Given the description of an element on the screen output the (x, y) to click on. 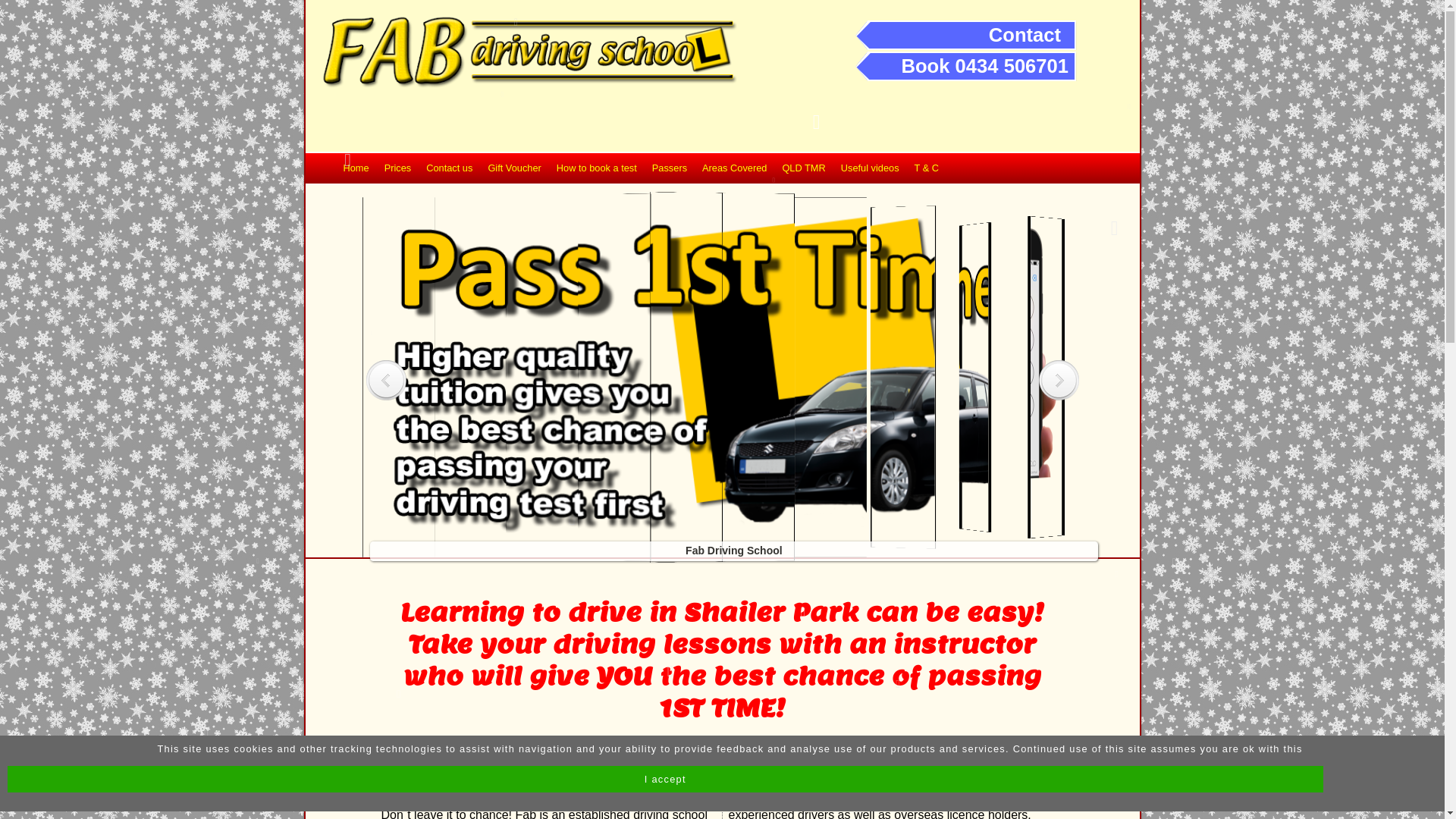
How to book a test Element type: text (596, 168)
Areas Covered Element type: text (734, 168)
I accept Element type: text (665, 778)
Fab Driving School Element type: hover (720, 539)
T & C Element type: text (926, 168)
Prices Element type: text (397, 168)
Passers Element type: text (669, 168)
QLD TMR Element type: text (803, 168)
Useful videos Element type: text (869, 168)
Contact Element type: text (1024, 34)
Fab Driving School Element type: hover (737, 539)
Gift Voucher Element type: text (513, 168)
Home Element type: text (355, 167)
Contact us Element type: text (449, 168)
